Given the description of an element on the screen output the (x, y) to click on. 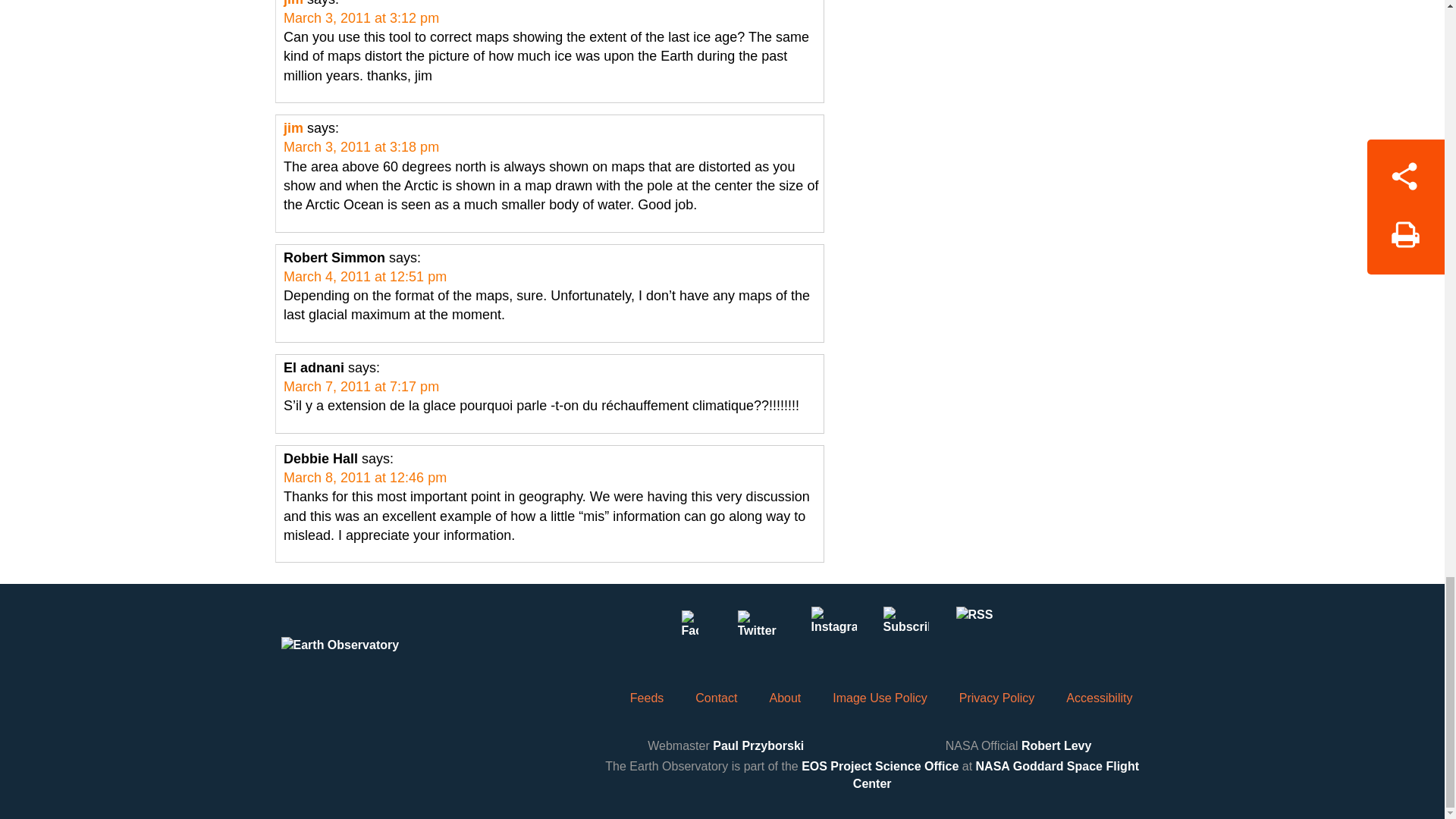
Facebook (689, 629)
Earth Observatory (369, 659)
Subscribe (905, 629)
Instagram (833, 629)
RSS (977, 629)
Twitter (761, 629)
